Given the description of an element on the screen output the (x, y) to click on. 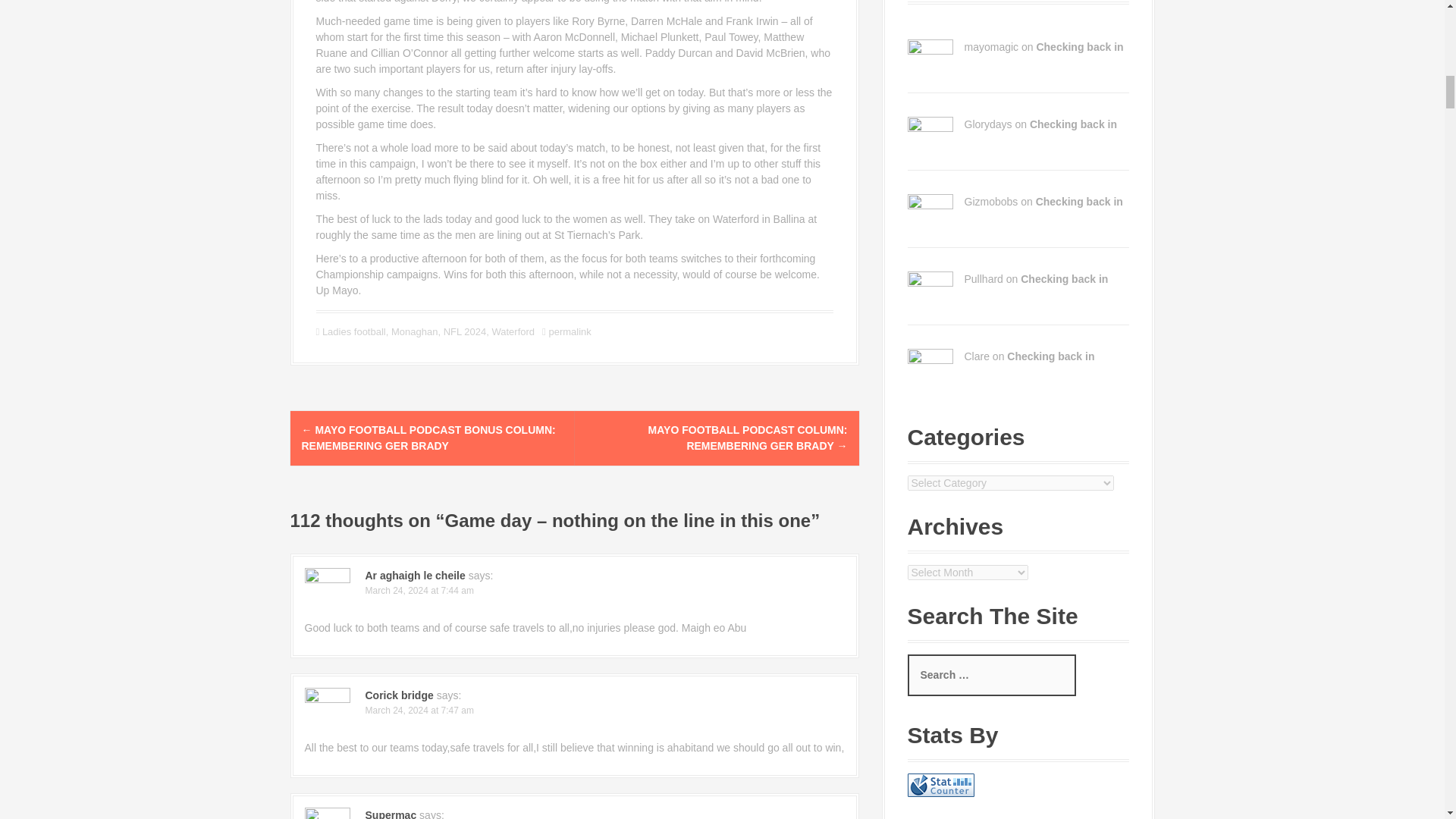
Waterford (513, 331)
permalink (568, 331)
Search for: (991, 675)
Ladies football (353, 331)
NFL 2024 (465, 331)
March 24, 2024 at 7:47 am (419, 710)
Monaghan (414, 331)
March 24, 2024 at 7:44 am (419, 590)
